Given the description of an element on the screen output the (x, y) to click on. 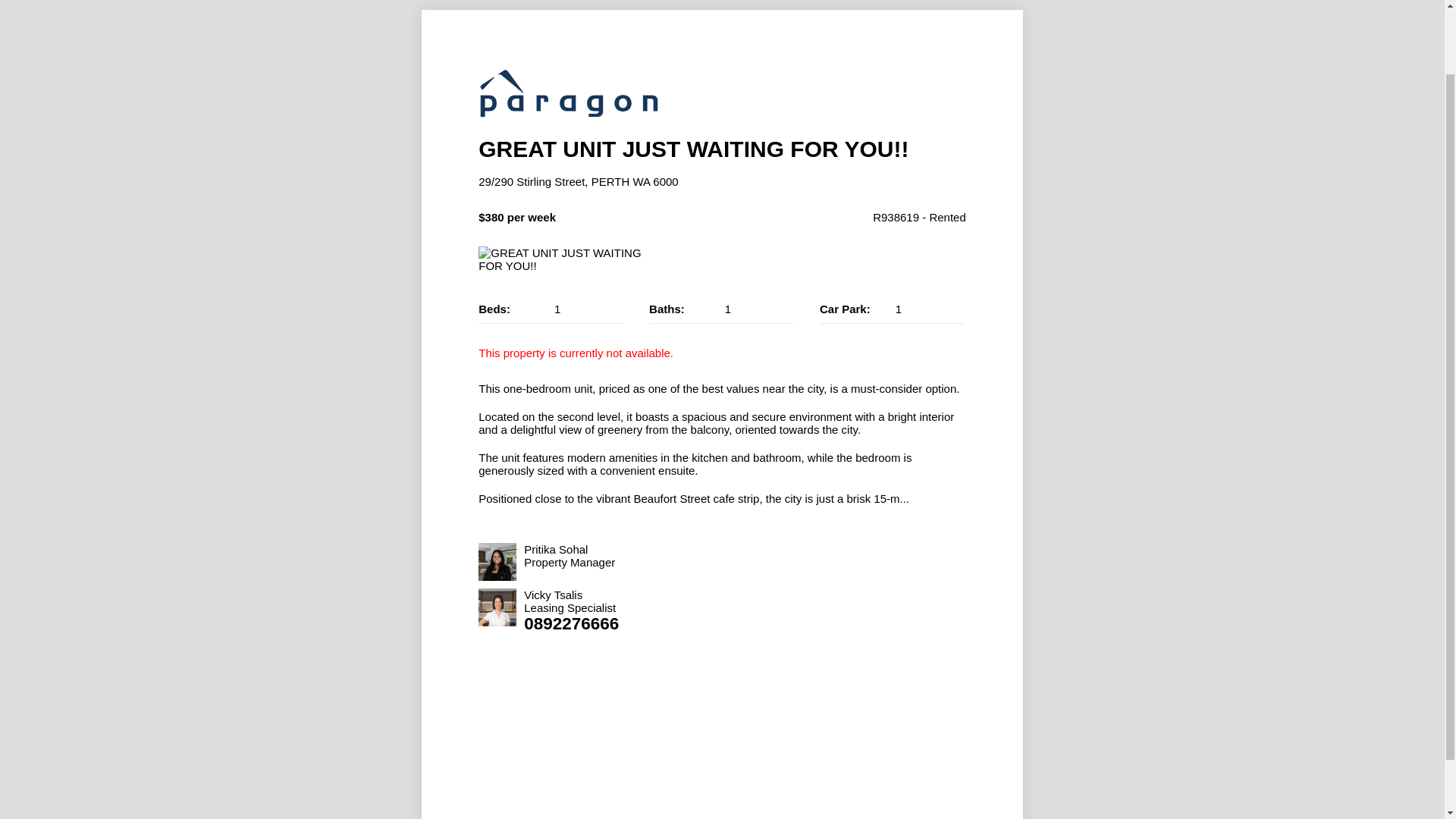
Car Park (891, 308)
Beds (551, 308)
GREAT UNIT JUST WAITING FOR YOU!! (570, 258)
Baths (721, 308)
